Given the description of an element on the screen output the (x, y) to click on. 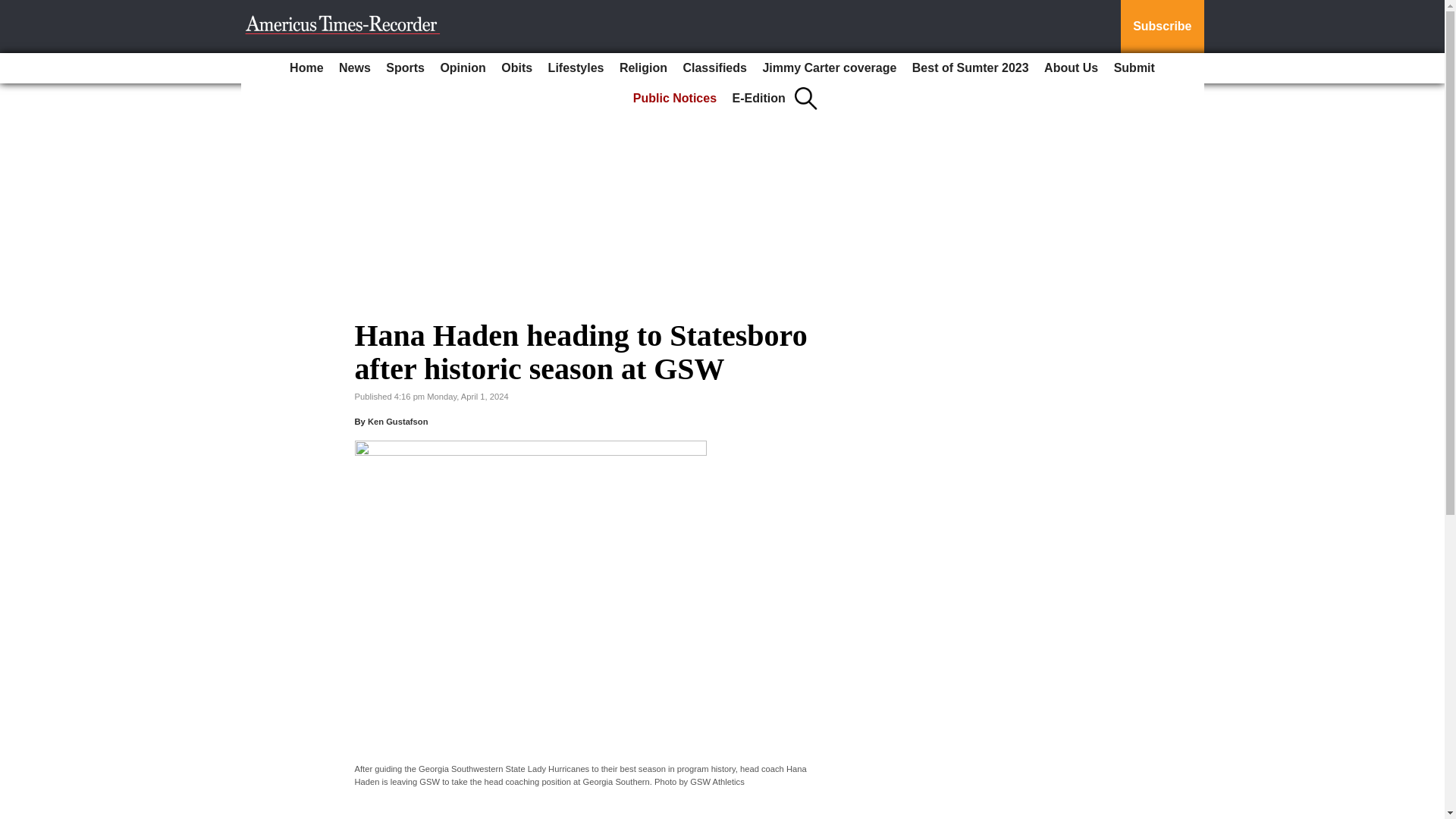
Religion (642, 68)
Obits (516, 68)
Subscribe (1162, 26)
E-Edition (759, 98)
News (355, 68)
Go (13, 9)
Lifestyles (575, 68)
Submit (1134, 68)
Sports (405, 68)
Classifieds (714, 68)
